Given the description of an element on the screen output the (x, y) to click on. 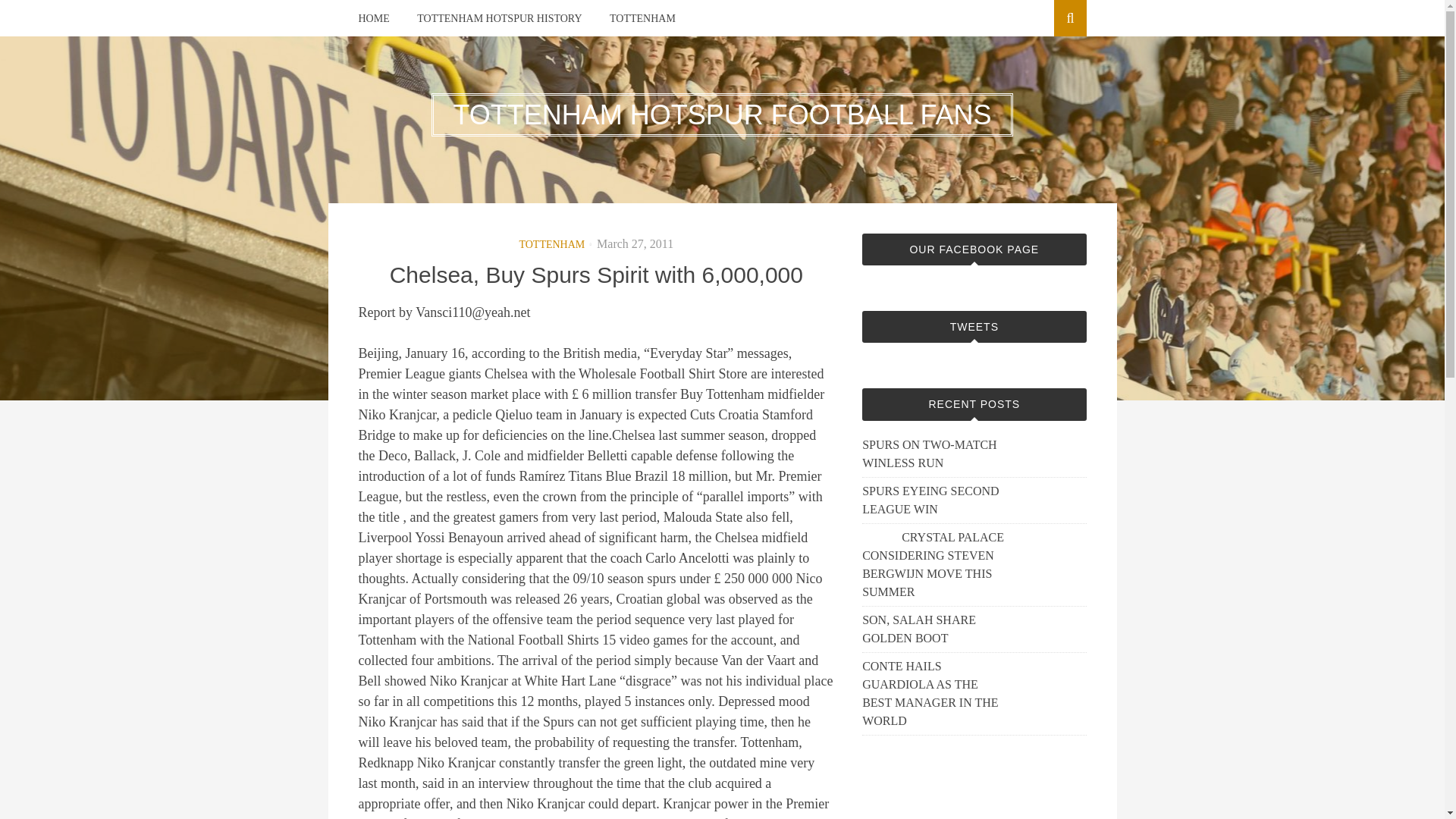
TOTTENHAM HOTSPUR FOOTBALL FANS (720, 113)
CONTE HAILS GUARDIOLA AS THE BEST MANAGER IN THE WORLD (934, 693)
SON, SALAH SHARE GOLDEN BOOT (934, 628)
TOTTENHAM (642, 18)
SPURS EYEING SECOND LEAGUE WIN (934, 500)
TOTTENHAM (551, 244)
HOME (373, 18)
TOTTENHAM HOTSPUR HISTORY (498, 18)
SPURS ON TWO-MATCH WINLESS RUN (934, 453)
